Given the description of an element on the screen output the (x, y) to click on. 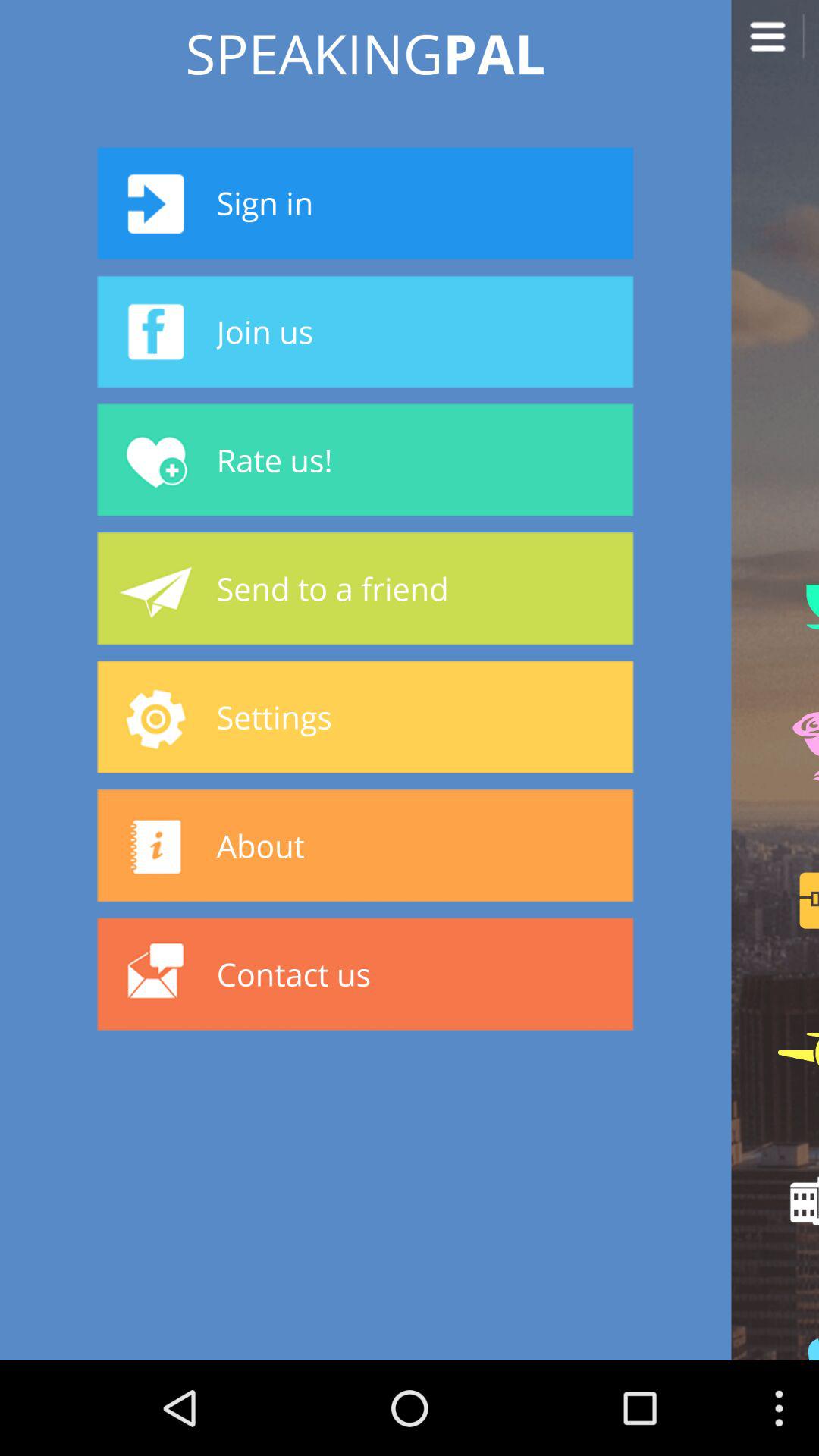
go to manu (775, 43)
